Given the description of an element on the screen output the (x, y) to click on. 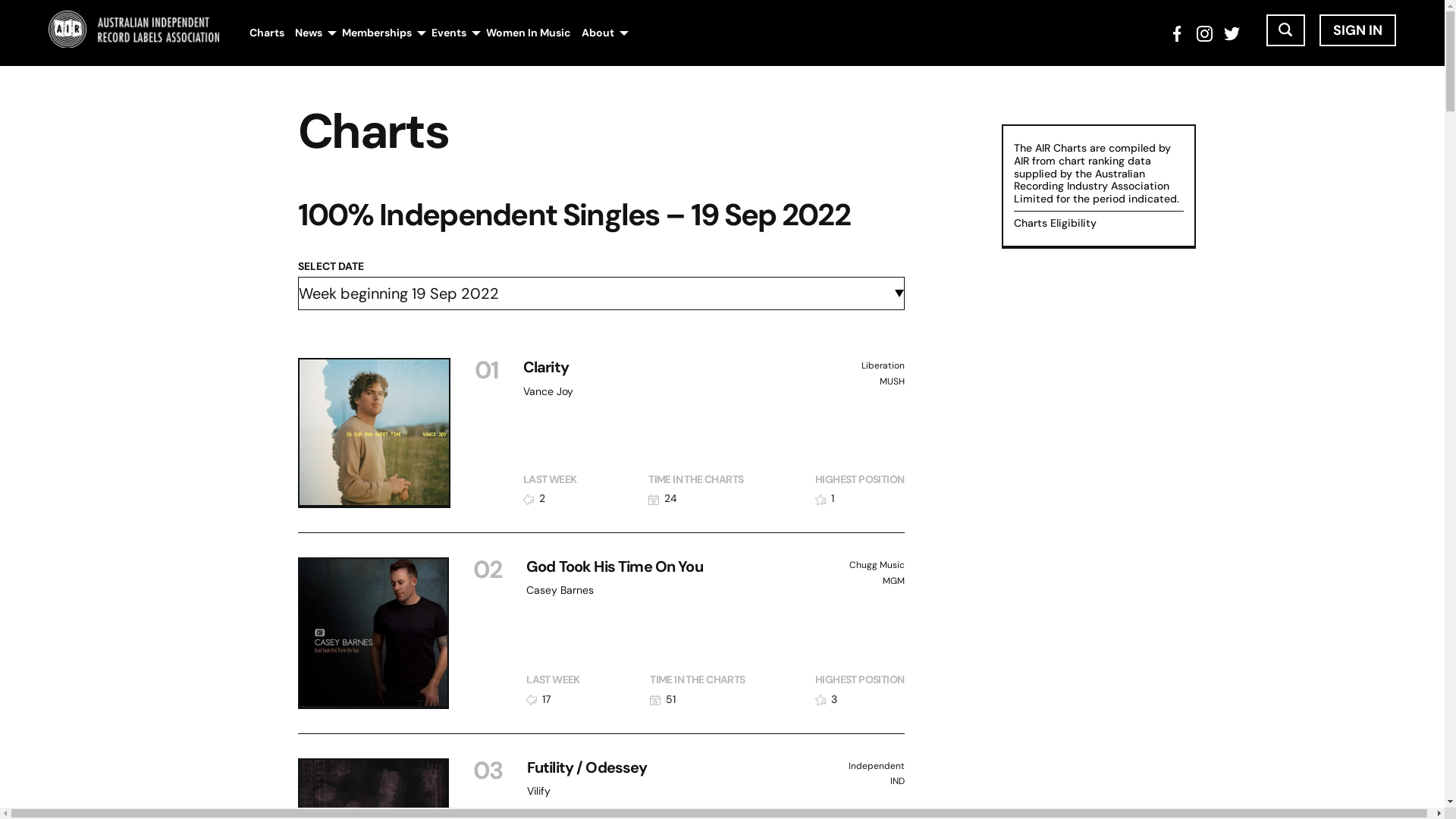
Memberships Element type: text (376, 32)
Charts Element type: text (266, 32)
About Element type: text (597, 32)
Women In Music Element type: text (528, 32)
SIGN IN Element type: text (1357, 30)
Events Element type: text (448, 32)
News Element type: text (308, 32)
Charts Eligibility Element type: text (1054, 223)
